Given the description of an element on the screen output the (x, y) to click on. 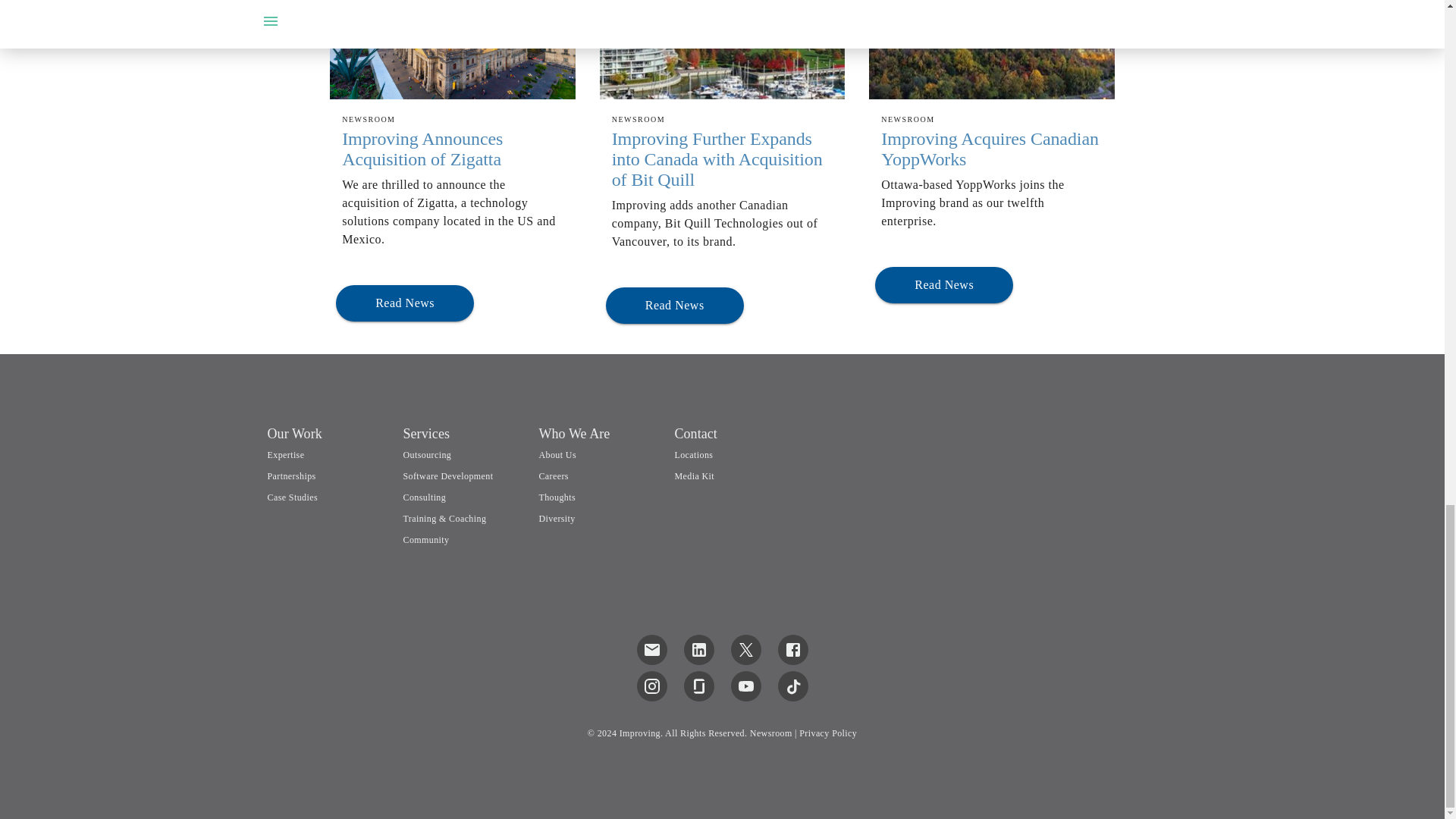
Read News (405, 301)
Software Development (448, 475)
Diversity (556, 518)
Read News (674, 305)
Thoughts (556, 497)
About Us (557, 454)
Outsourcing (427, 454)
Newsroom (770, 733)
Case Studies (328, 498)
Locations (693, 454)
Expertise (285, 454)
Read News (405, 303)
Media Kit (694, 475)
Careers (552, 475)
